Given the description of an element on the screen output the (x, y) to click on. 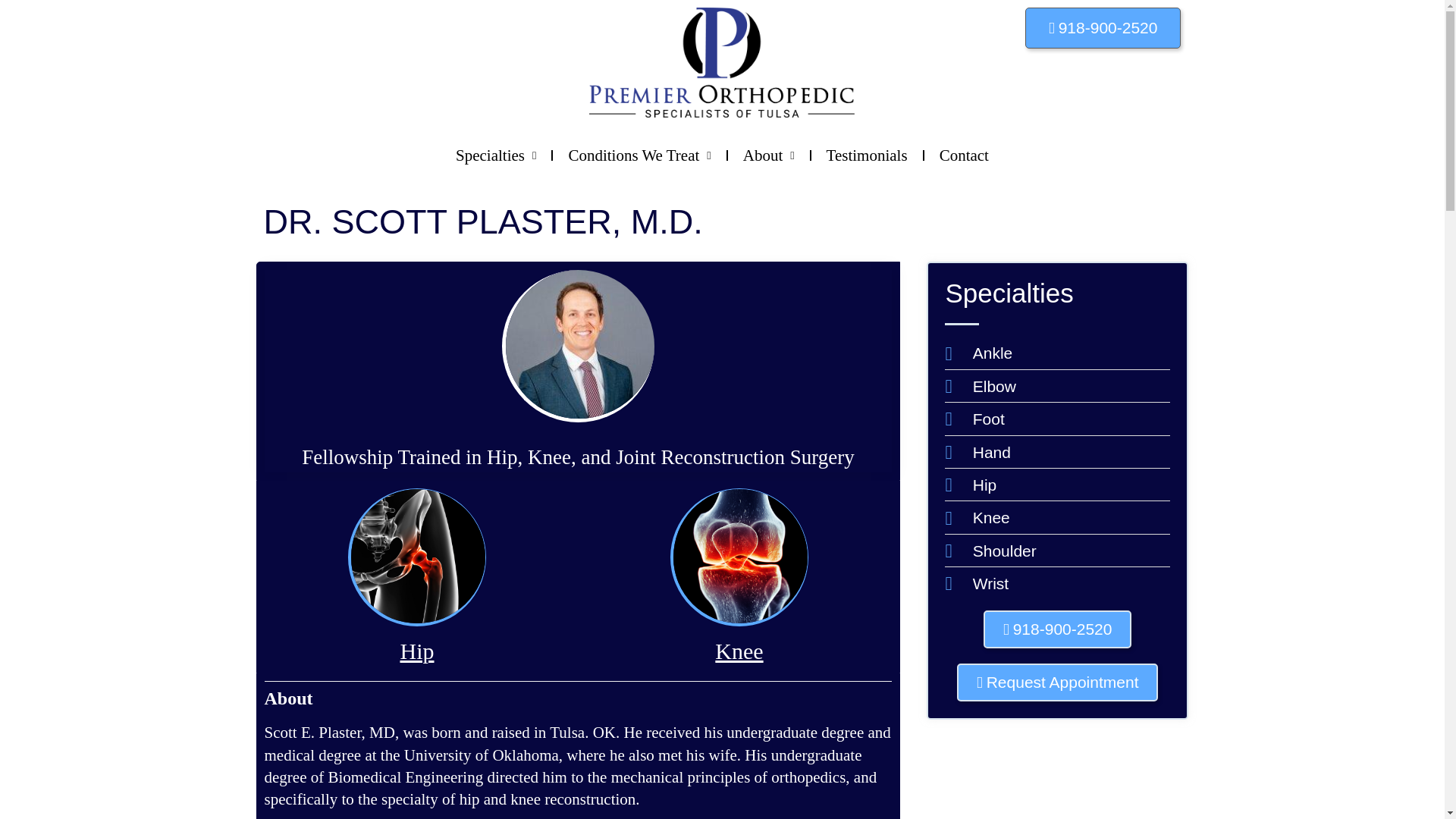
Conditions We Treat (639, 155)
918-900-2520 (1102, 27)
Specialties (496, 155)
